Given the description of an element on the screen output the (x, y) to click on. 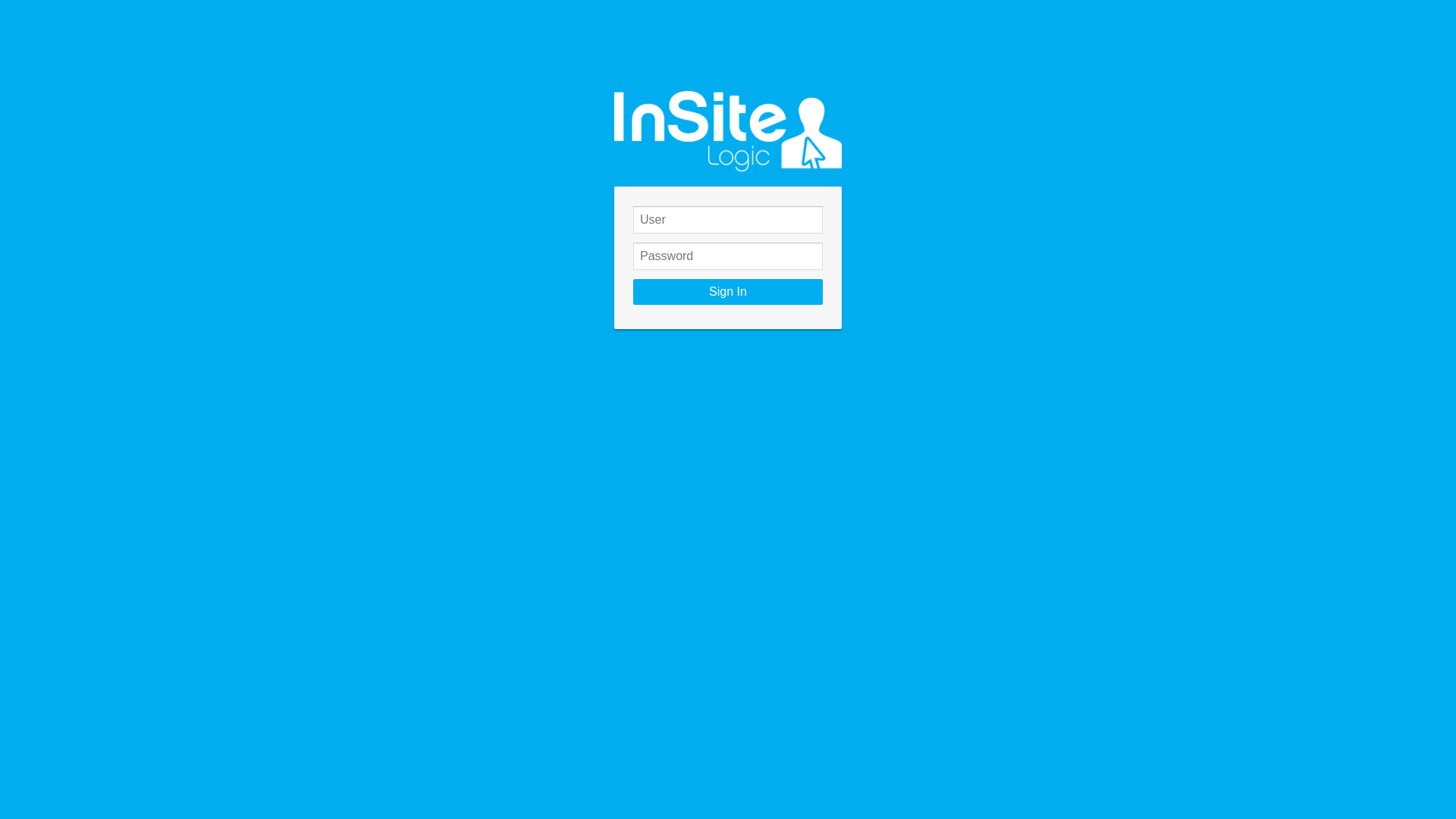
Sign In Element type: text (727, 291)
